Given the description of an element on the screen output the (x, y) to click on. 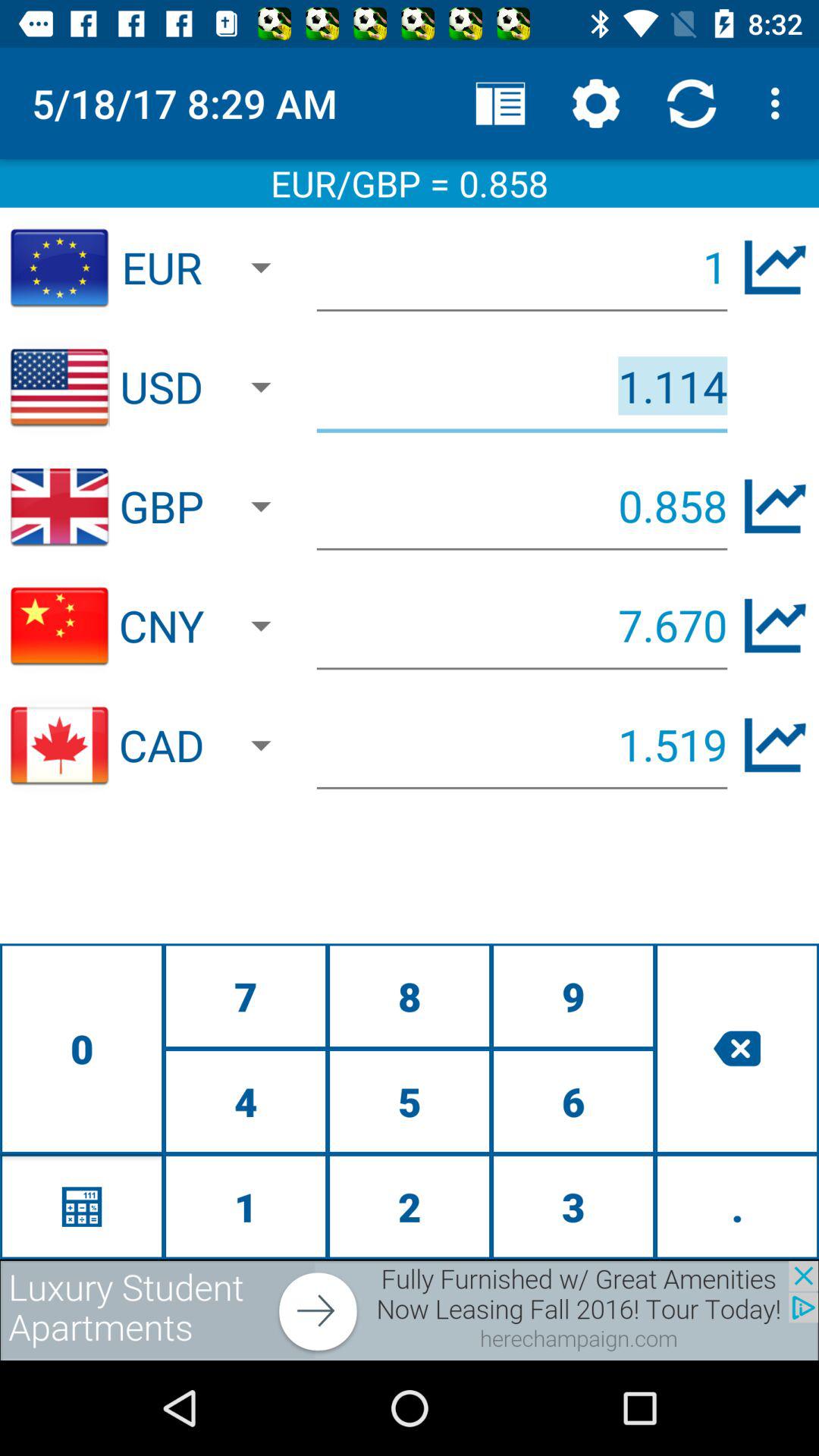
graph option (775, 744)
